Given the description of an element on the screen output the (x, y) to click on. 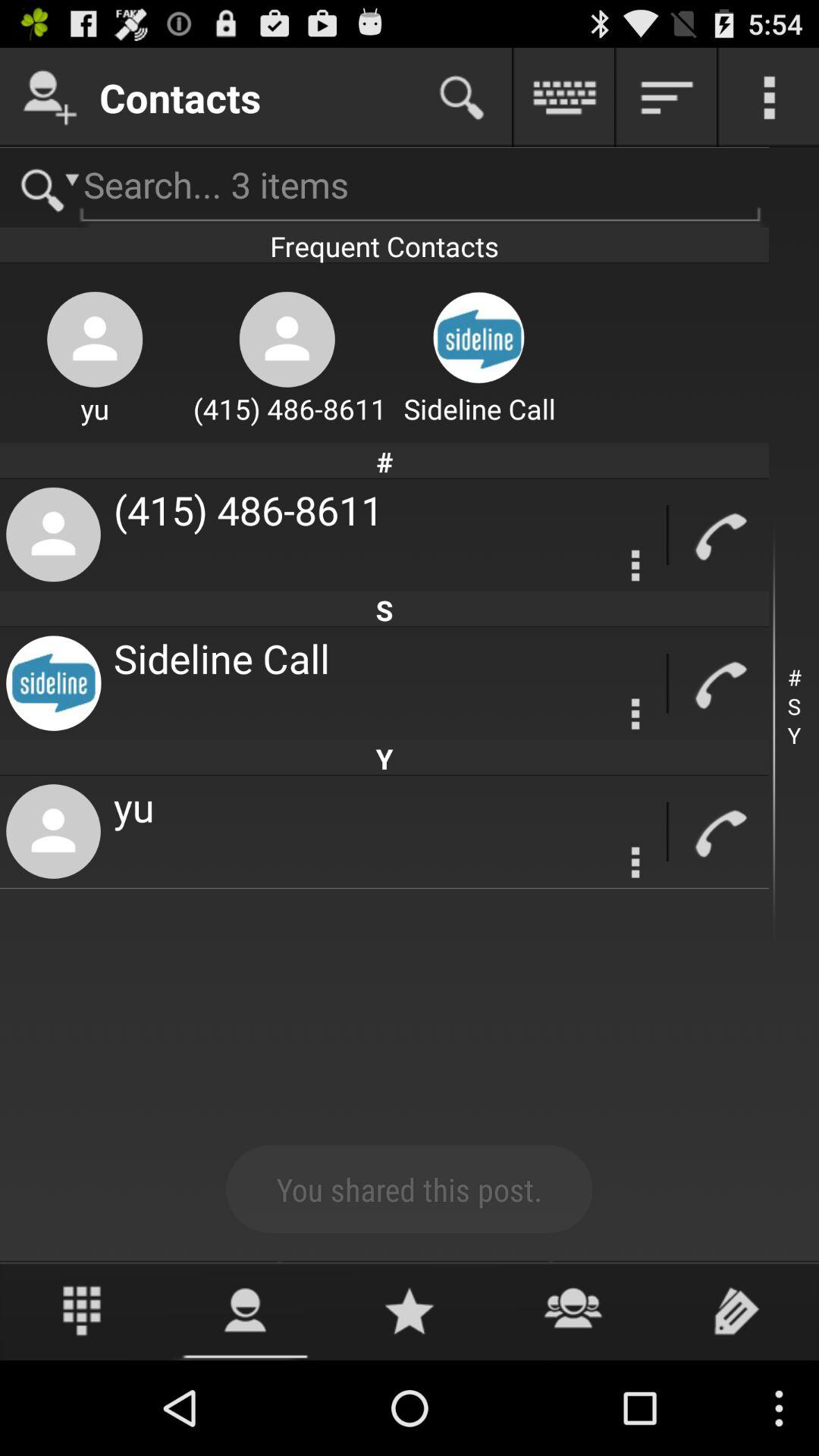
enter search term (384, 187)
